Given the description of an element on the screen output the (x, y) to click on. 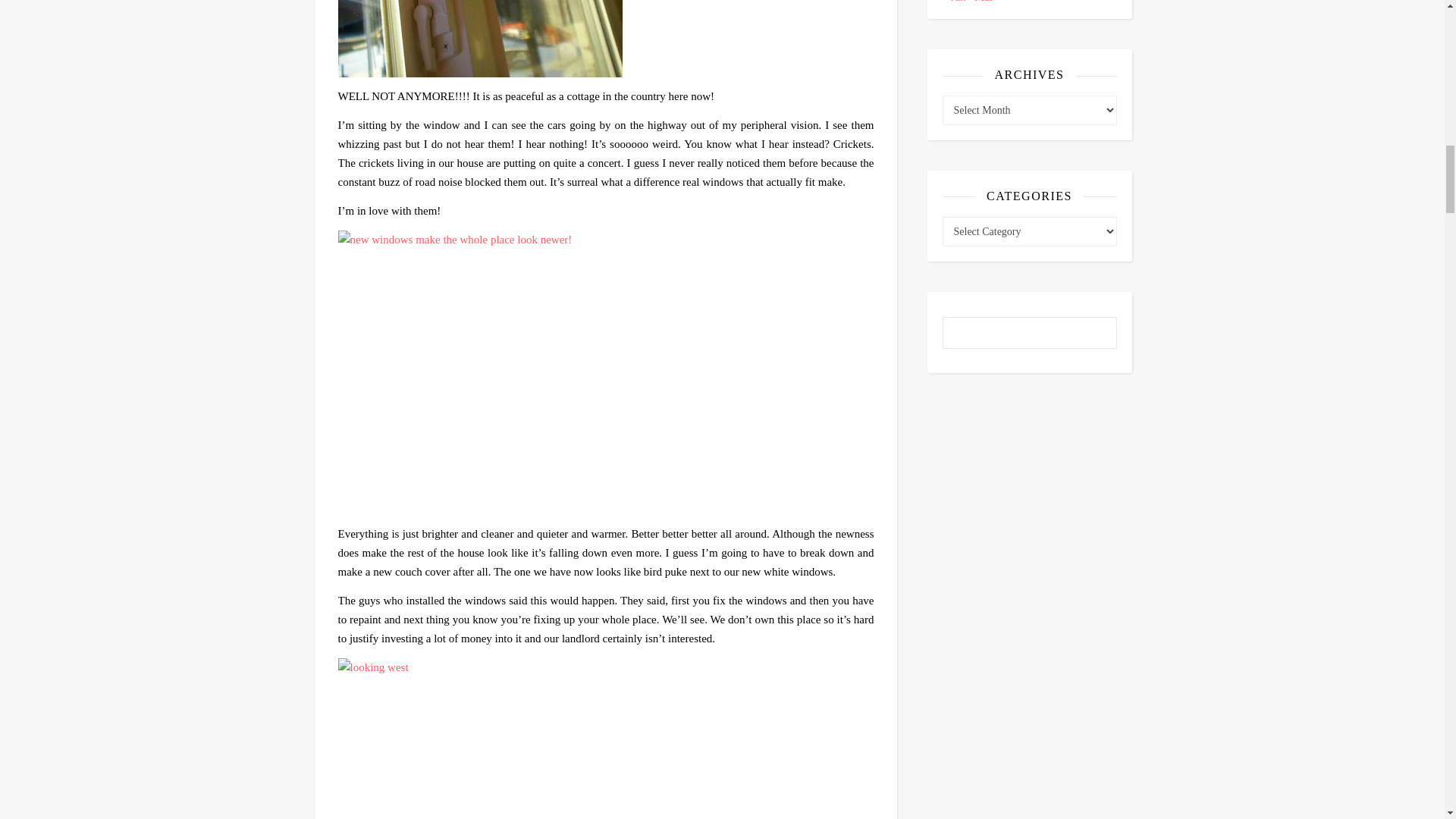
looking west by secret agent josephine, on Flickr (606, 738)
